Given the description of an element on the screen output the (x, y) to click on. 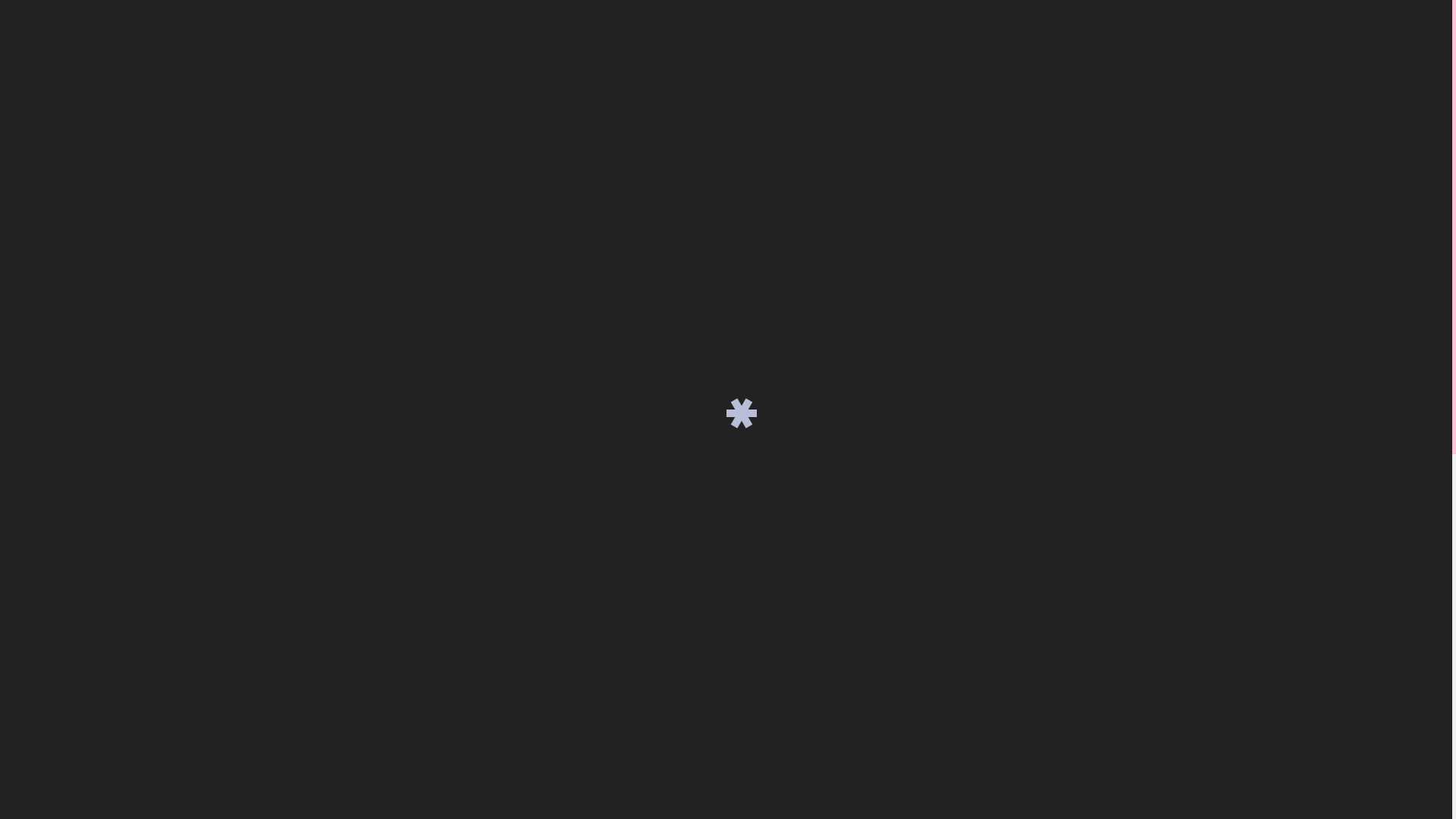
+380953866776 Element type: text (1018, 50)
